Given the description of an element on the screen output the (x, y) to click on. 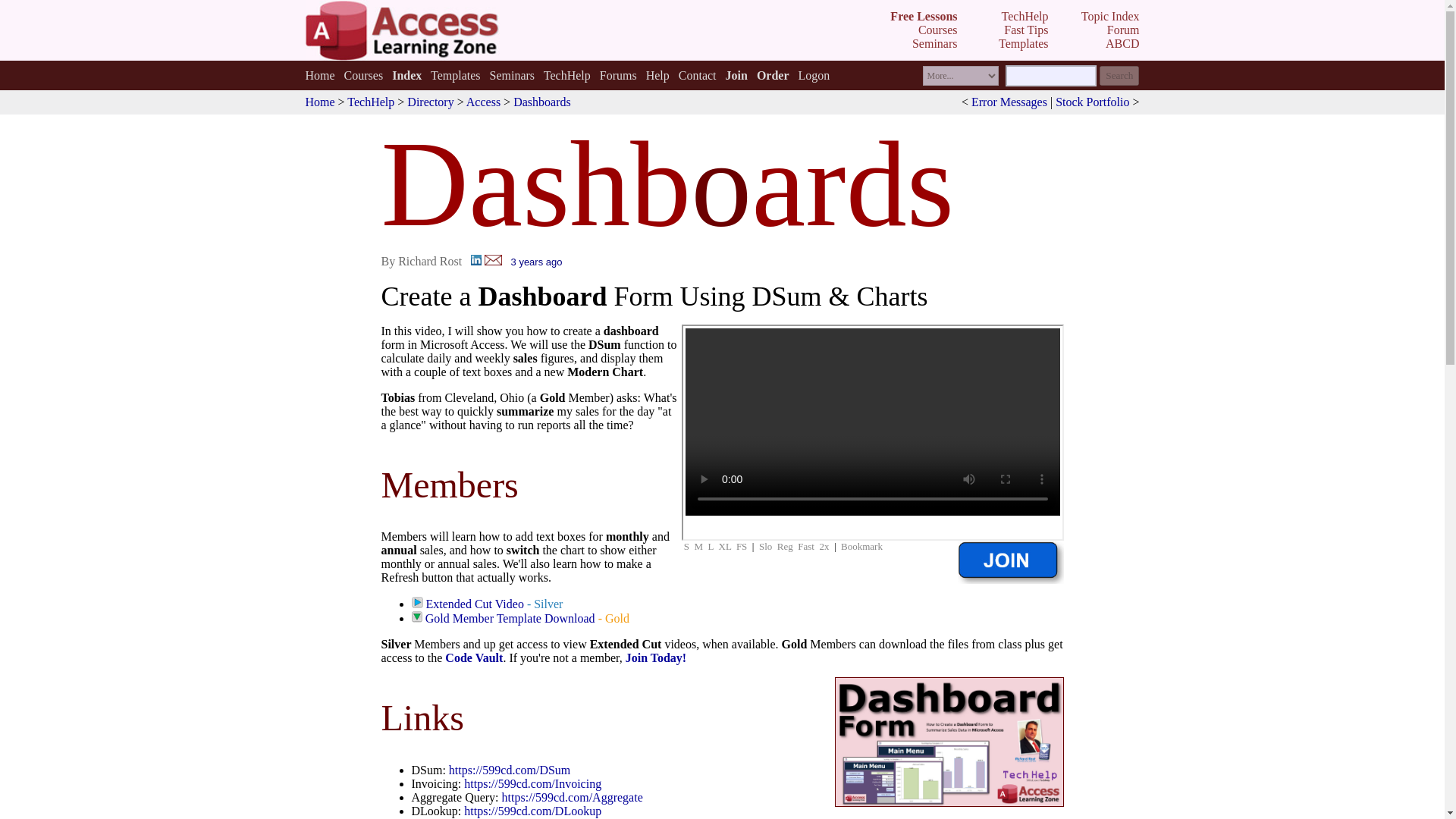
TechHelp (370, 101)
Logon (813, 74)
FS (741, 546)
XL (725, 546)
Help (657, 74)
Join (736, 74)
Courses (363, 74)
Search (1118, 75)
Stock Portfolio (1092, 101)
Seminars (935, 42)
Index (406, 74)
Templates (455, 74)
Seminars (512, 74)
Free Lessons (922, 15)
Access (482, 101)
